Given the description of an element on the screen output the (x, y) to click on. 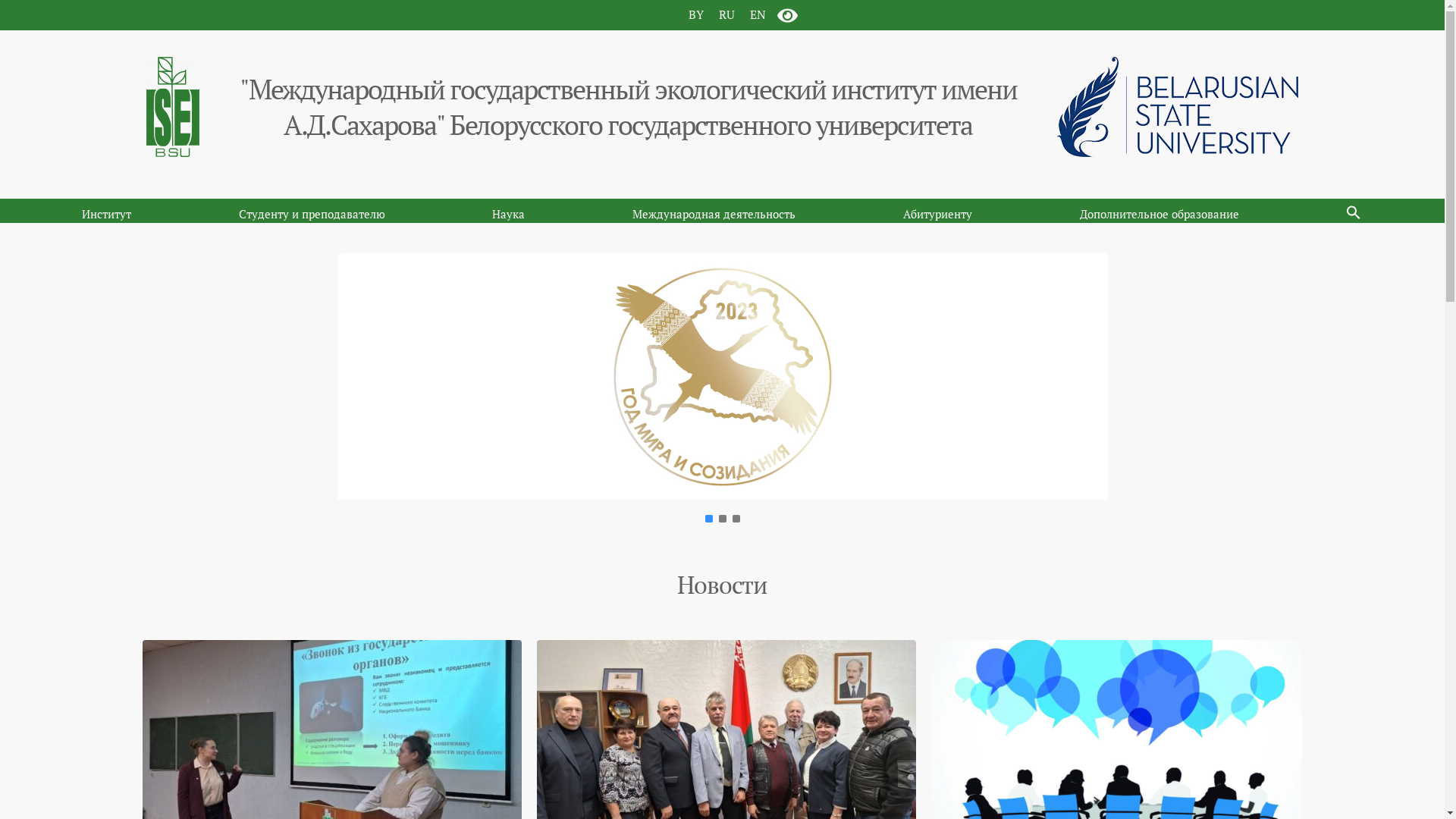
EN Element type: text (757, 14)
RU Element type: text (726, 14)
BY Element type: text (695, 14)
3 Element type: text (736, 518)
1 Element type: text (708, 518)
2 Element type: text (722, 518)
